Given the description of an element on the screen output the (x, y) to click on. 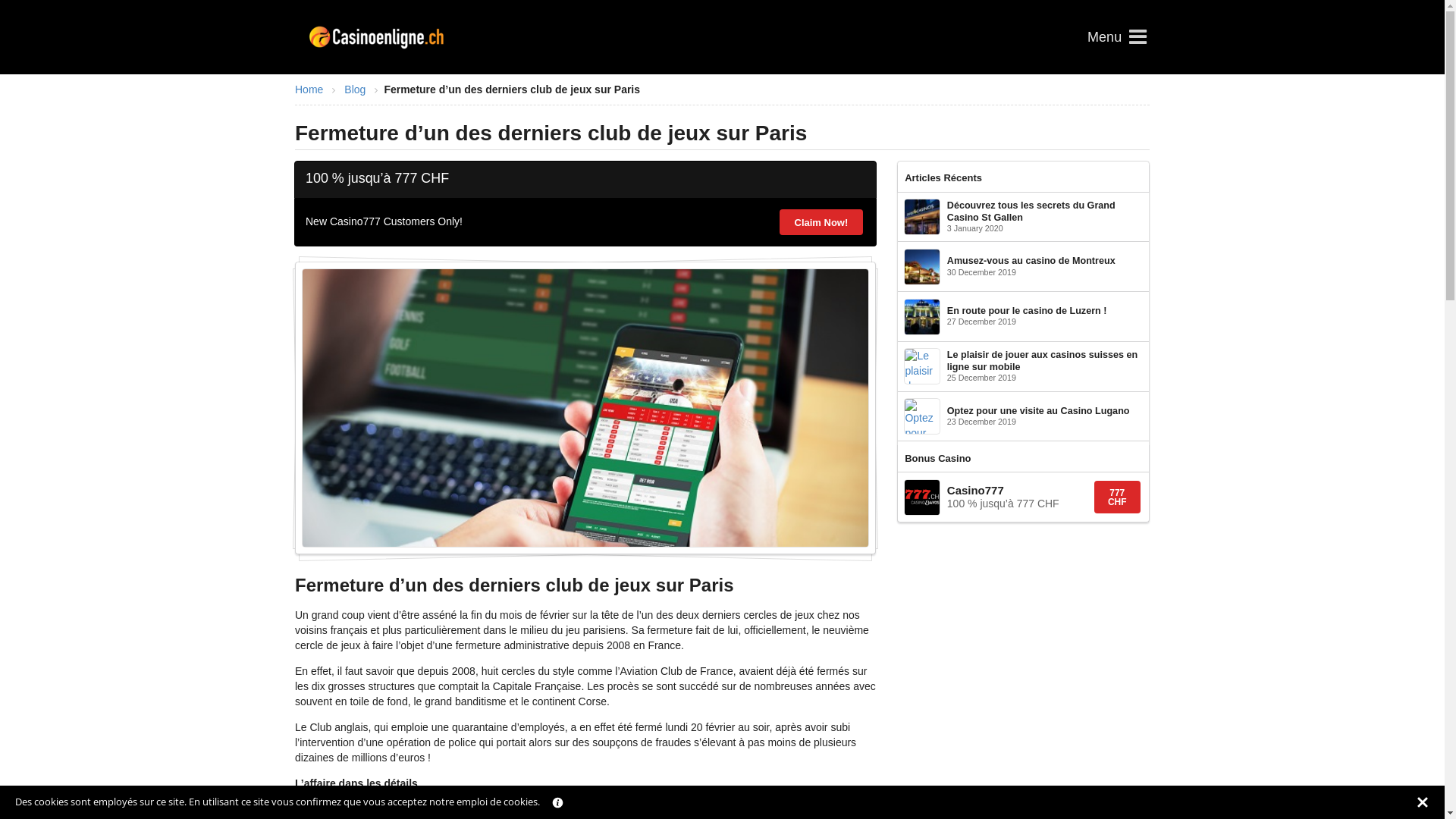
Blog Element type: text (354, 89)
Home Element type: text (308, 89)
En route pour le casino de Luzern !
27 December 2019 Element type: text (1022, 315)
Optez pour une visite au Casino Lugano
23 December 2019 Element type: text (1022, 416)
Menu Element type: text (1114, 36)
Amusez-vous au casino de Montreux
30 December 2019 Element type: text (1022, 266)
